Given the description of an element on the screen output the (x, y) to click on. 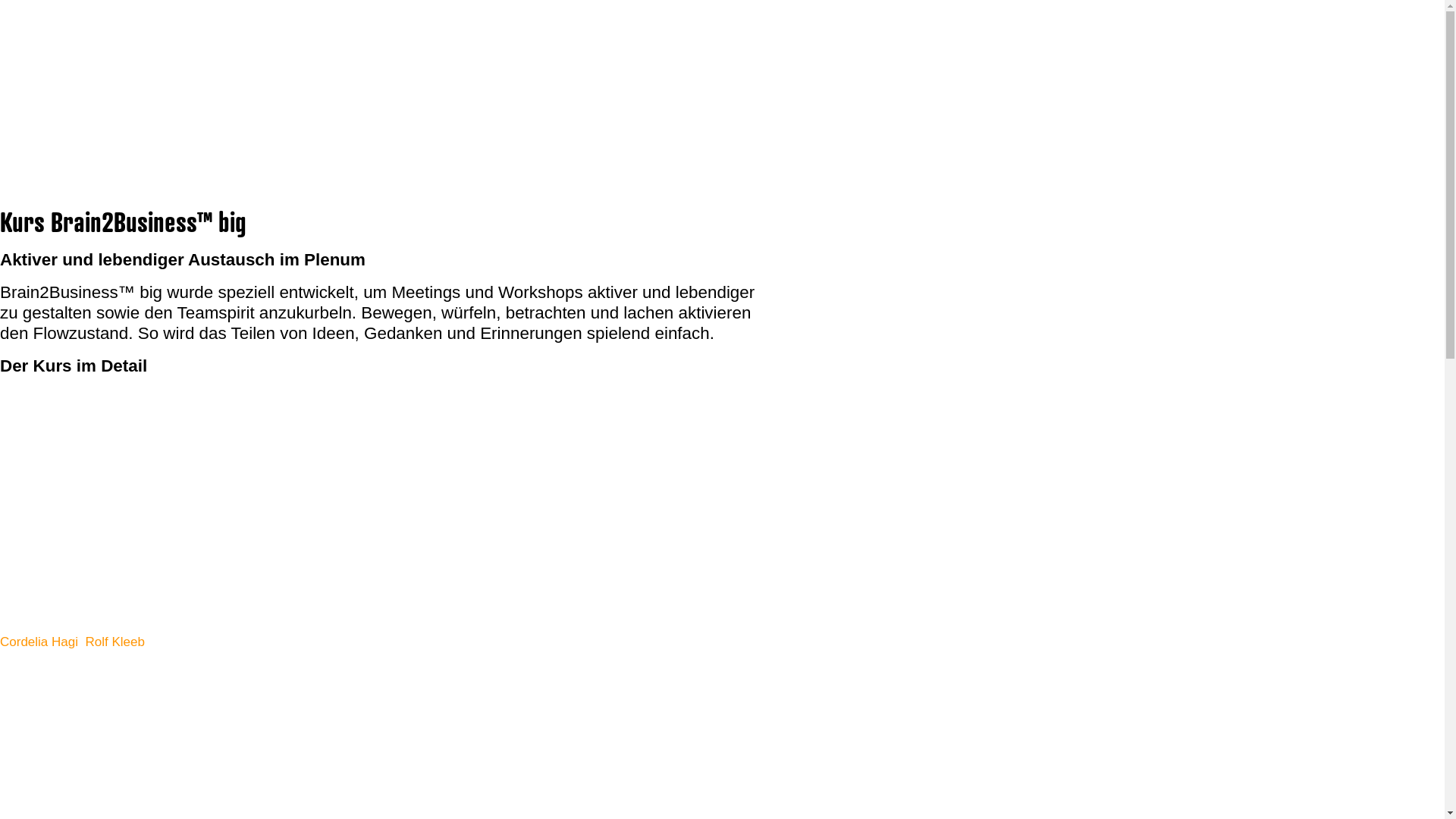
Ansatz Element type: text (48, 99)
Home Element type: text (46, 26)
Cordelia Hagi Element type: text (39, 641)
Methode und Tools Element type: text (81, 44)
Managementprozess Element type: text (86, 62)
Interviews Element type: text (57, 153)
Community Element type: text (60, 135)
News Element type: text (45, 190)
Inhalt Element type: text (14, 756)
Referenzen Element type: text (61, 117)
Rolf Kleeb Element type: text (114, 641)
Skip to content Element type: text (0, 0)
Kurse Element type: text (46, 81)
Blogs Element type: text (45, 172)
